Given the description of an element on the screen output the (x, y) to click on. 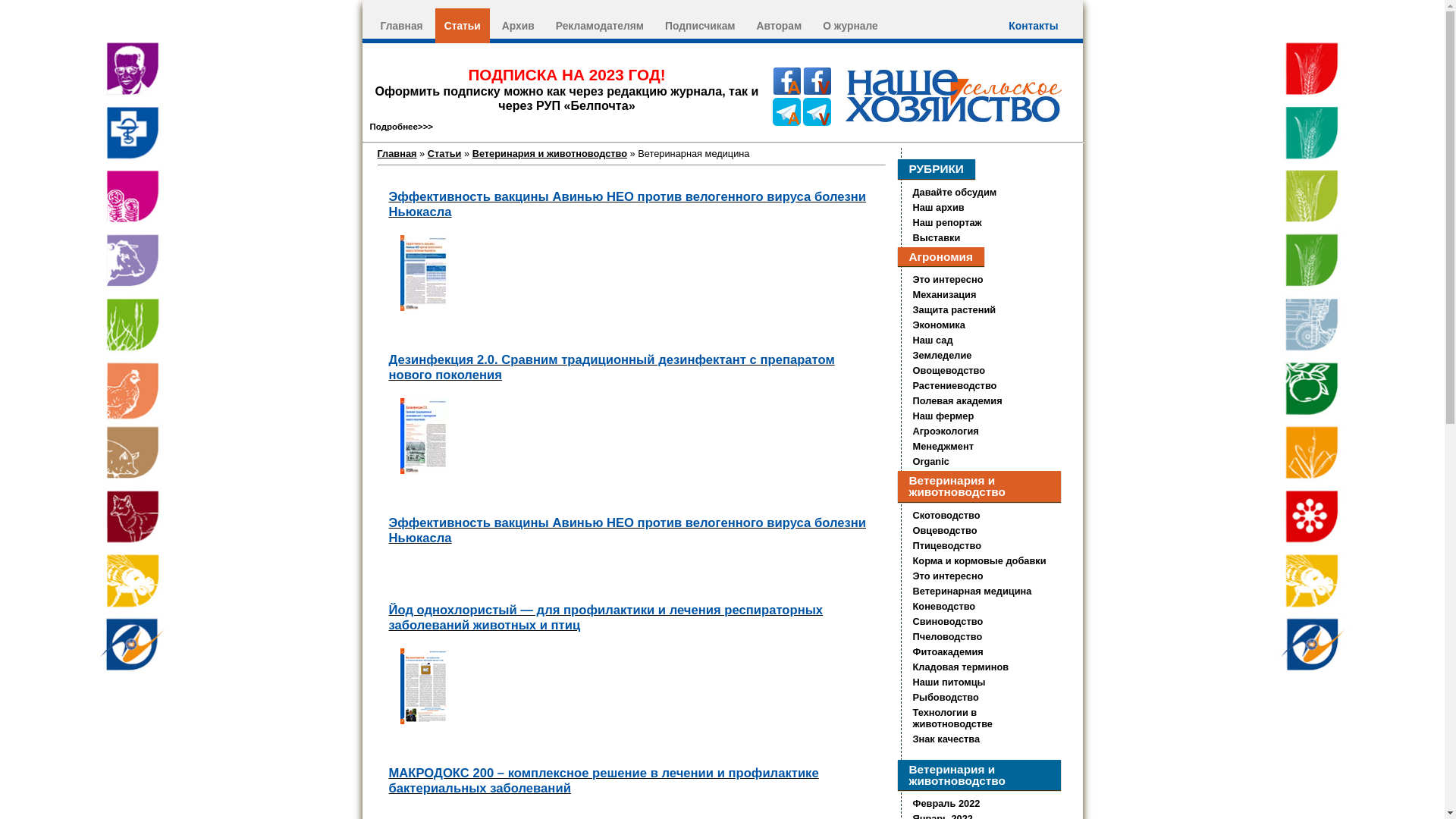
Organic Element type: text (931, 461)
